Given the description of an element on the screen output the (x, y) to click on. 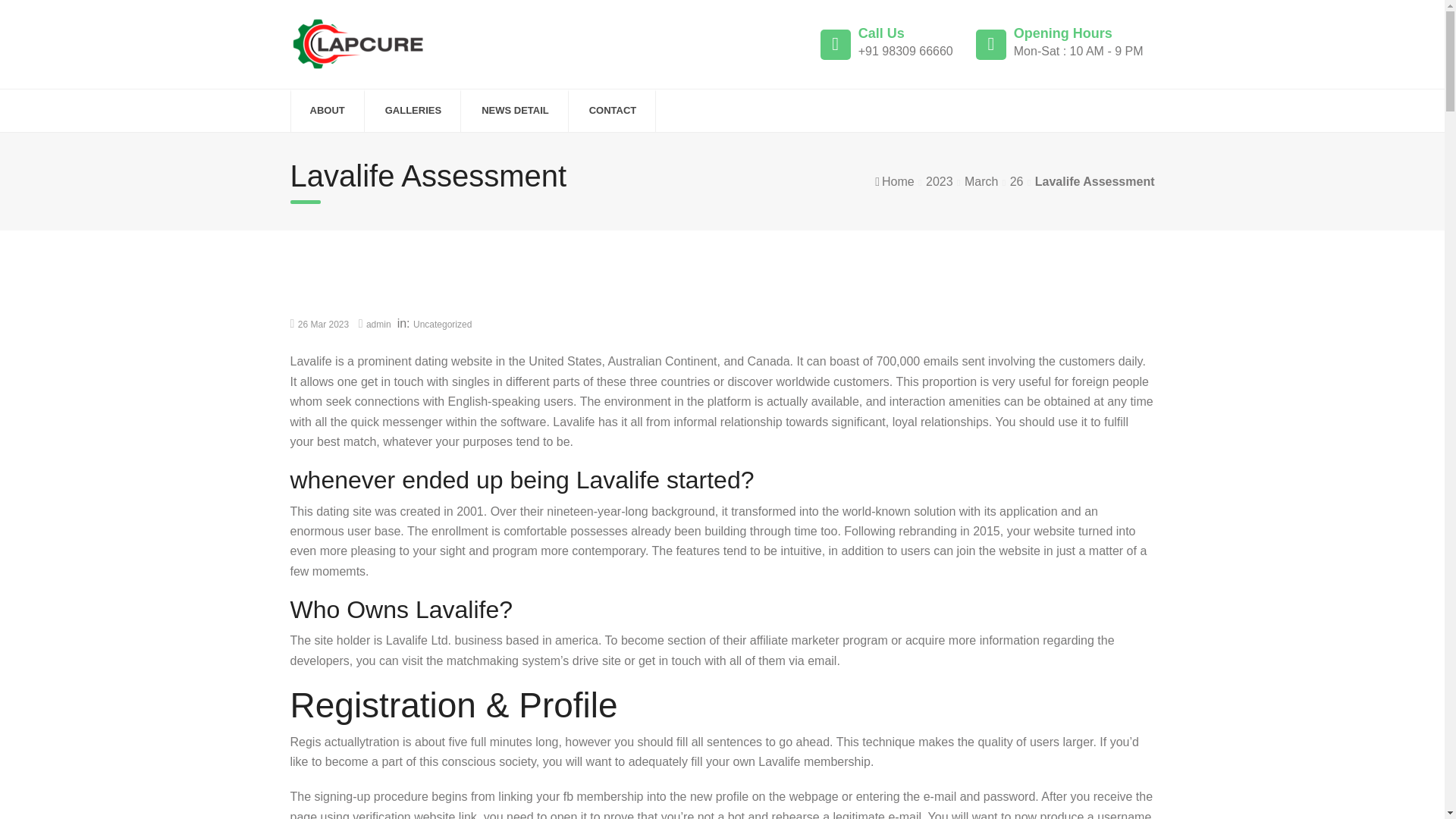
26 (1016, 181)
GALLERIES (412, 111)
ABOUT (326, 111)
CONTACT (612, 111)
NEWS DETAIL (515, 111)
Home (898, 181)
admin (378, 324)
2023 (939, 181)
March (980, 181)
Uncategorized (442, 324)
26 Mar 2023 (323, 324)
